Given the description of an element on the screen output the (x, y) to click on. 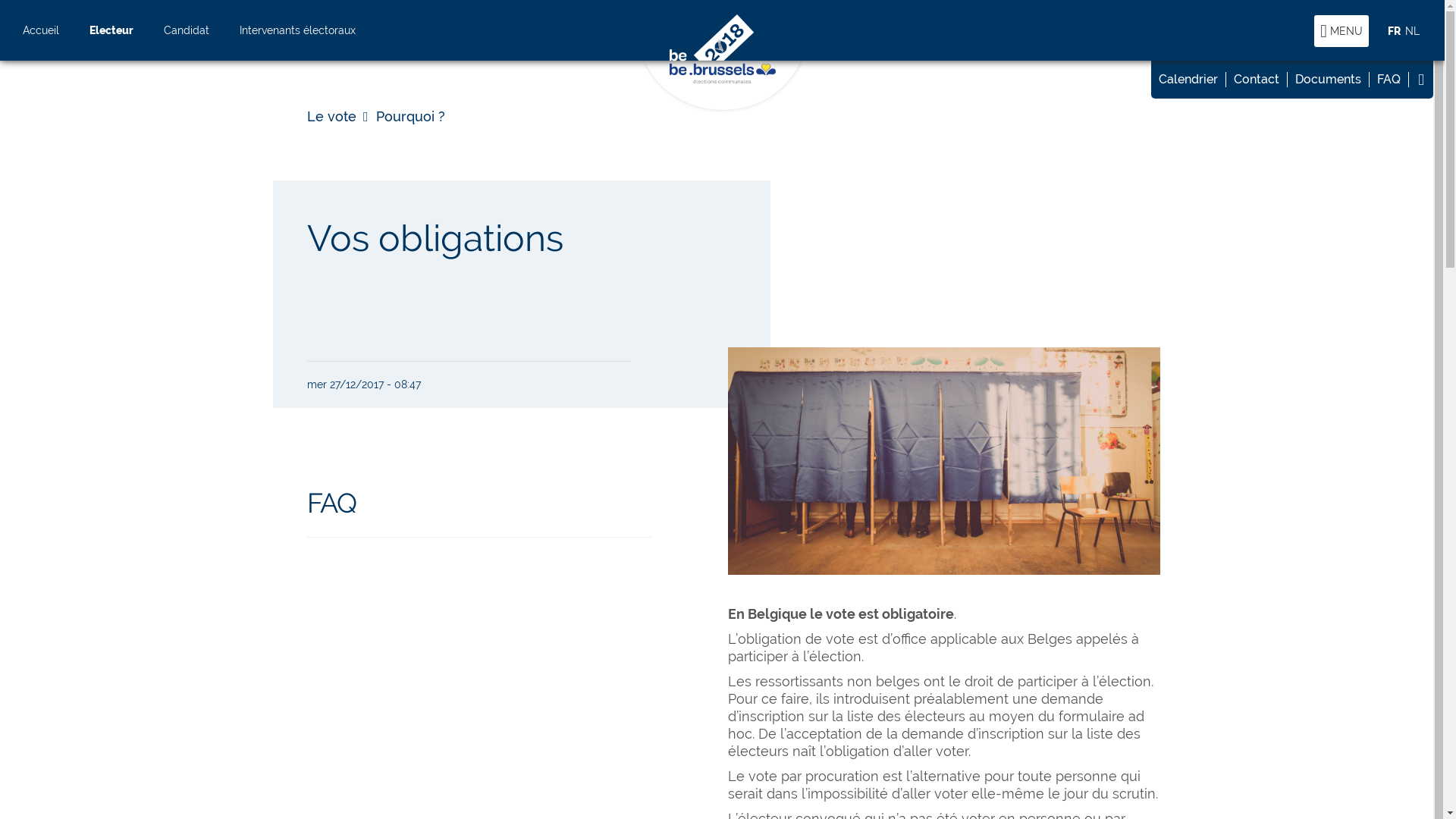
Accueil Element type: text (40, 29)
NL Element type: text (1412, 31)
Calendrier Element type: text (1188, 79)
Documents Element type: text (1328, 79)
FAQ Element type: text (1388, 79)
Candidat Element type: text (186, 29)
Contact Element type: text (1256, 79)
Electeur Element type: text (111, 29)
Facebook Element type: text (1421, 79)
FAQ Element type: text (331, 502)
FR Element type: text (1393, 31)
